Given the description of an element on the screen output the (x, y) to click on. 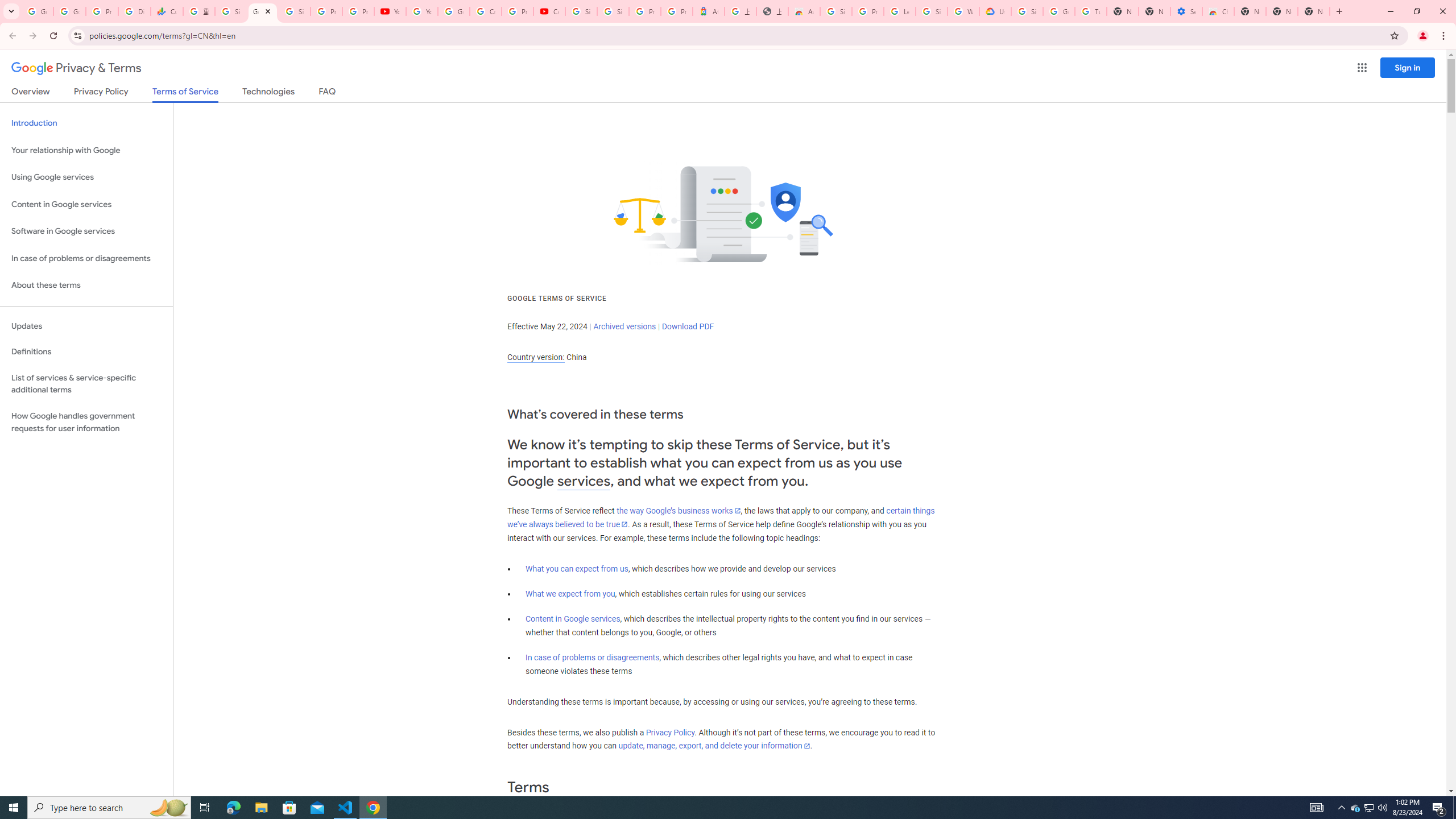
What you can expect from us (576, 568)
Updates (86, 325)
Your relationship with Google (86, 150)
Sign in - Google Accounts (230, 11)
Sign in - Google Accounts (836, 11)
